Given the description of an element on the screen output the (x, y) to click on. 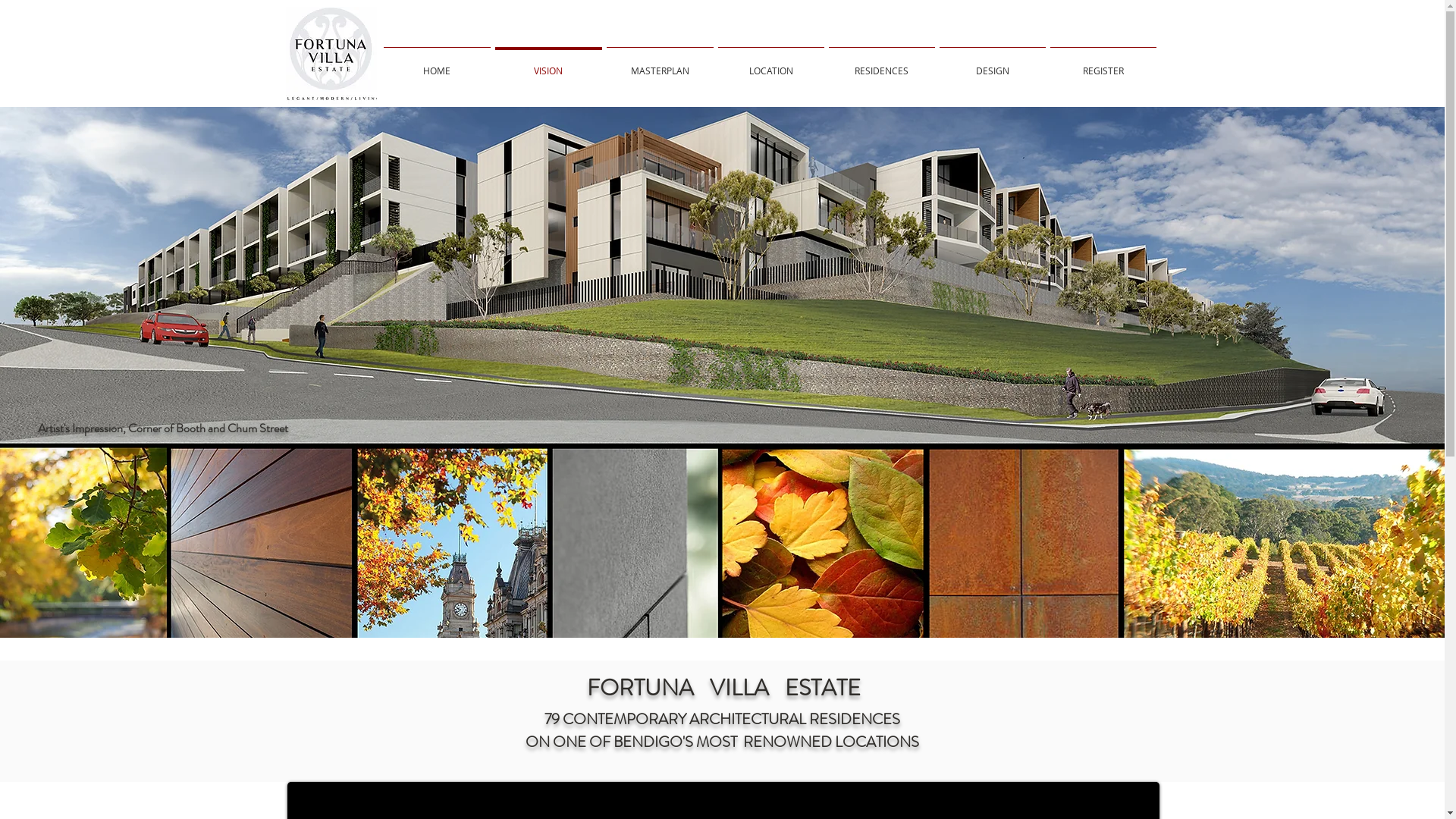
LOCATION Element type: text (770, 64)
DESIGN Element type: text (992, 64)
REGISTER Element type: text (1103, 64)
HOME Element type: text (436, 64)
MASTERPLAN Element type: text (659, 64)
RESIDENCES Element type: text (881, 64)
FSE17730 Fortuna Estate_logo_Outline_edited.jpg Element type: hover (330, 54)
VISION Element type: text (548, 64)
